Given the description of an element on the screen output the (x, y) to click on. 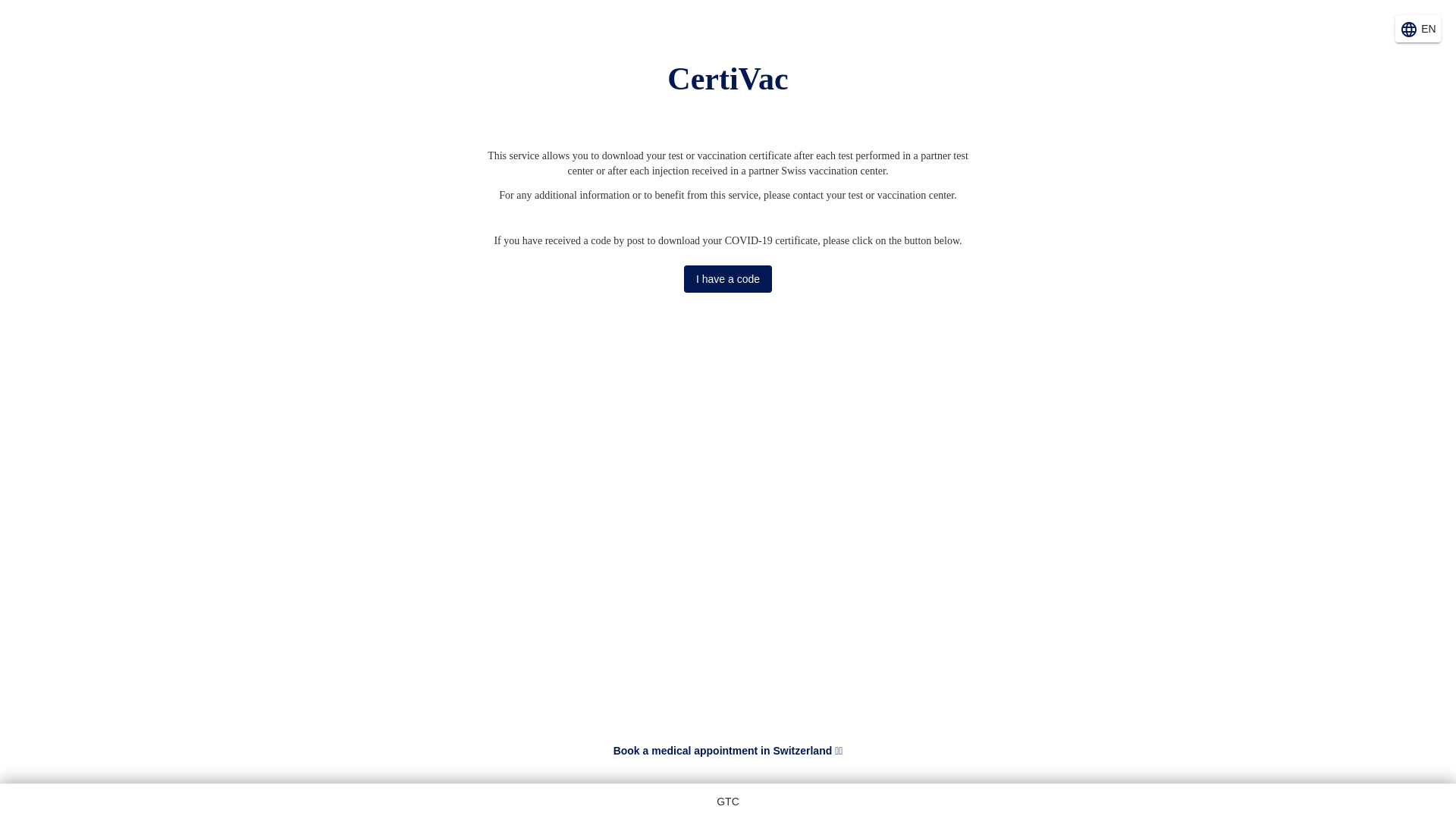
language EN Element type: text (1417, 28)
GTC Element type: text (727, 801)
I have a code Element type: text (727, 278)
